Given the description of an element on the screen output the (x, y) to click on. 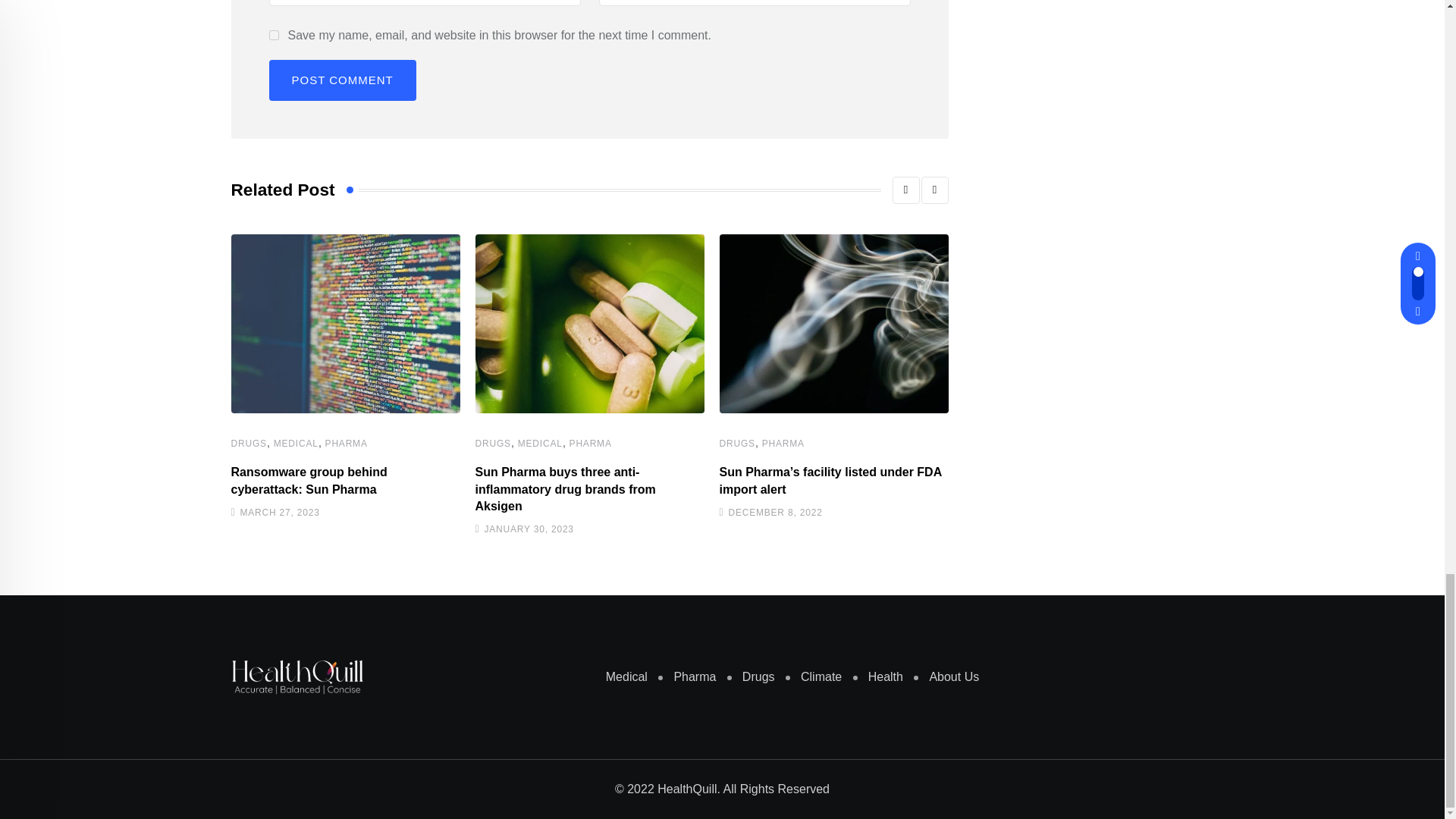
yes (272, 35)
Post Comment (340, 79)
